Given the description of an element on the screen output the (x, y) to click on. 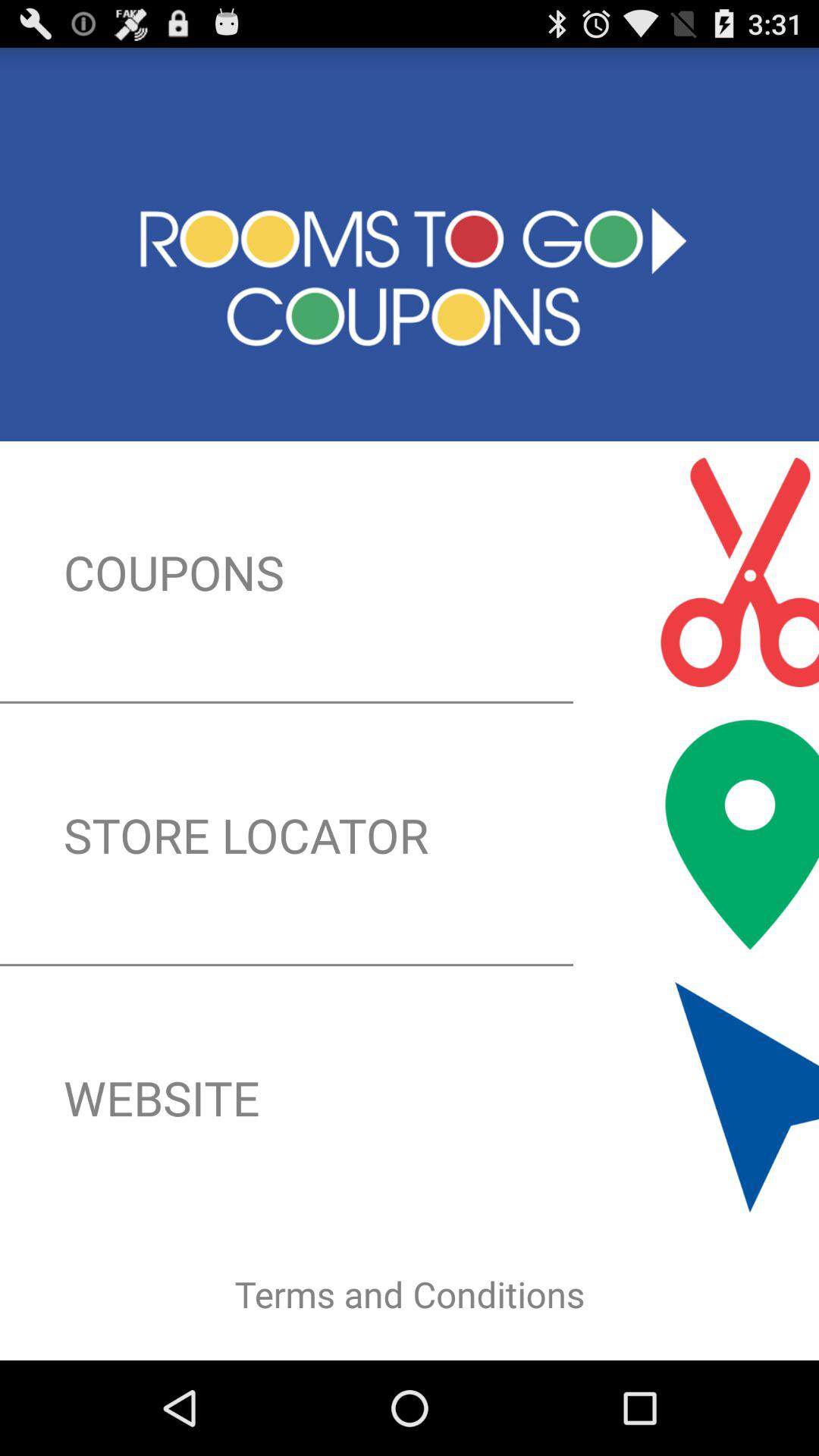
click the store locator item (409, 834)
